Given the description of an element on the screen output the (x, y) to click on. 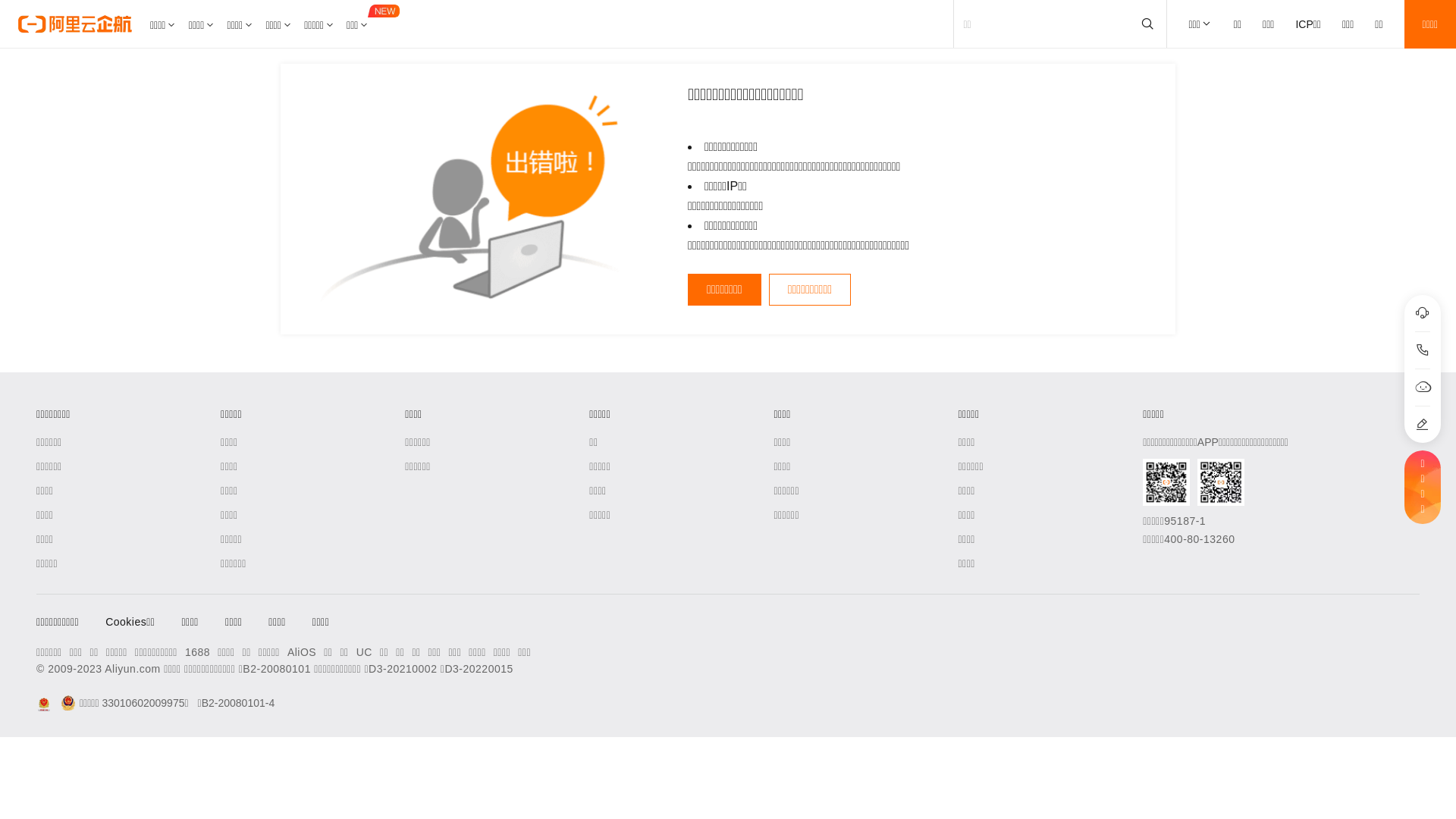
UC Element type: text (364, 652)
1688 Element type: text (197, 652)
AliOS Element type: text (301, 652)
